Given the description of an element on the screen output the (x, y) to click on. 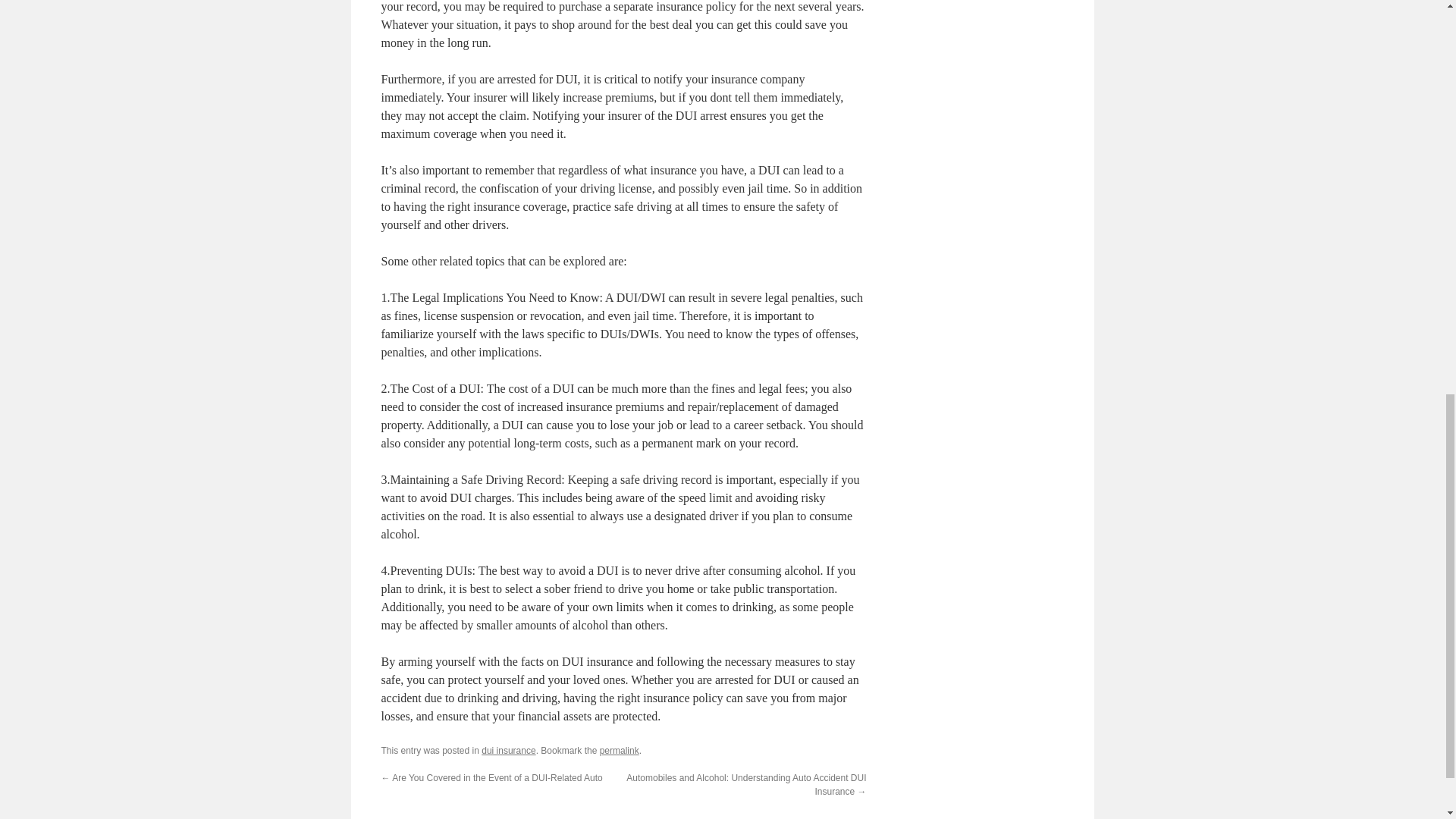
dui insurance (508, 750)
permalink (619, 750)
